Given the description of an element on the screen output the (x, y) to click on. 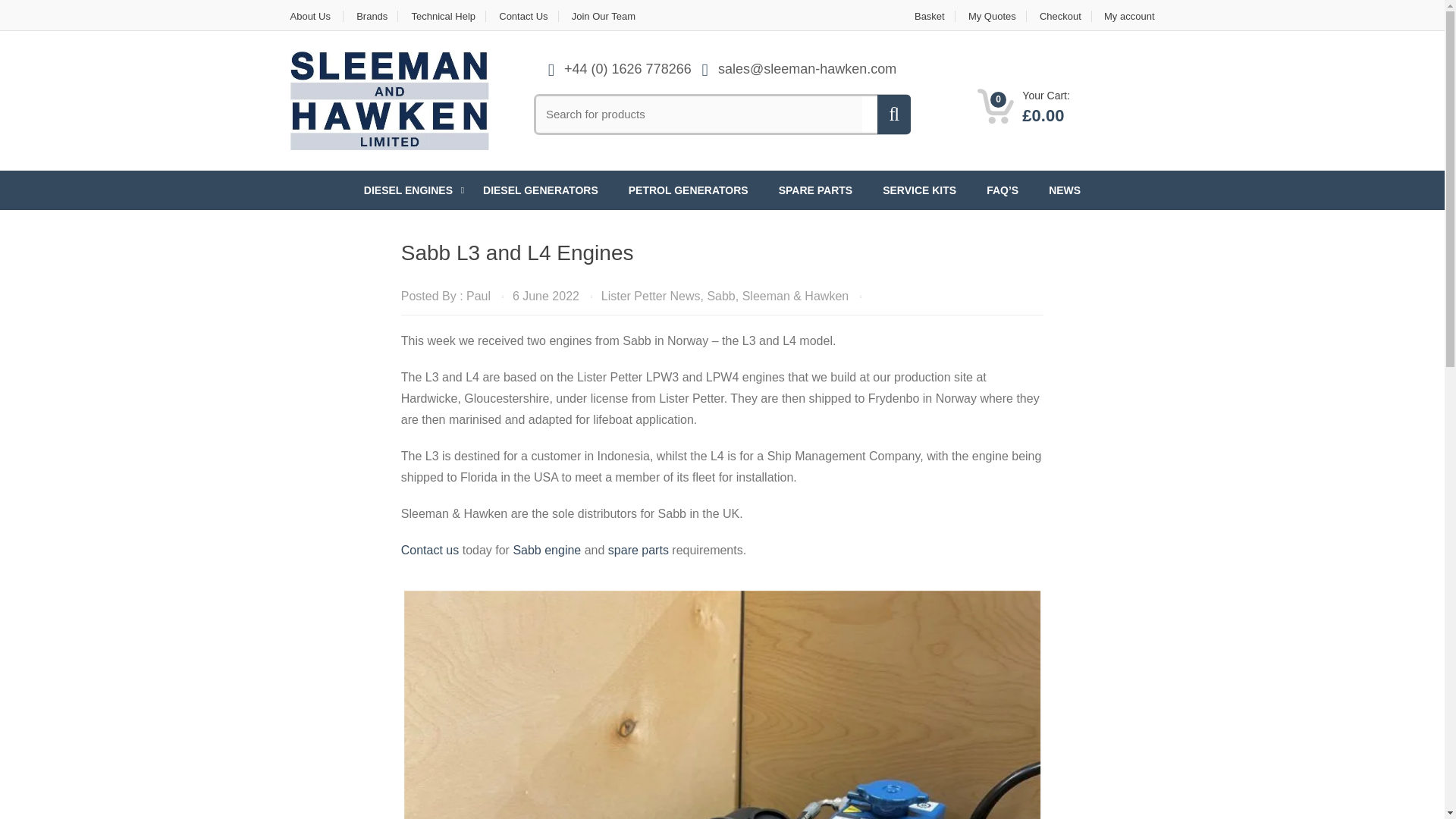
Basket (929, 16)
Join Our Team (603, 16)
Checkout (1060, 16)
Technical Help (443, 16)
Brands (371, 16)
Brands (371, 16)
My account (1124, 16)
About Us (315, 16)
Contact Us (523, 16)
Technical Help (443, 16)
Basket (929, 16)
My Quotes (992, 16)
Contact Us (523, 16)
About Us (315, 16)
My Quotes (992, 16)
